Given the description of an element on the screen output the (x, y) to click on. 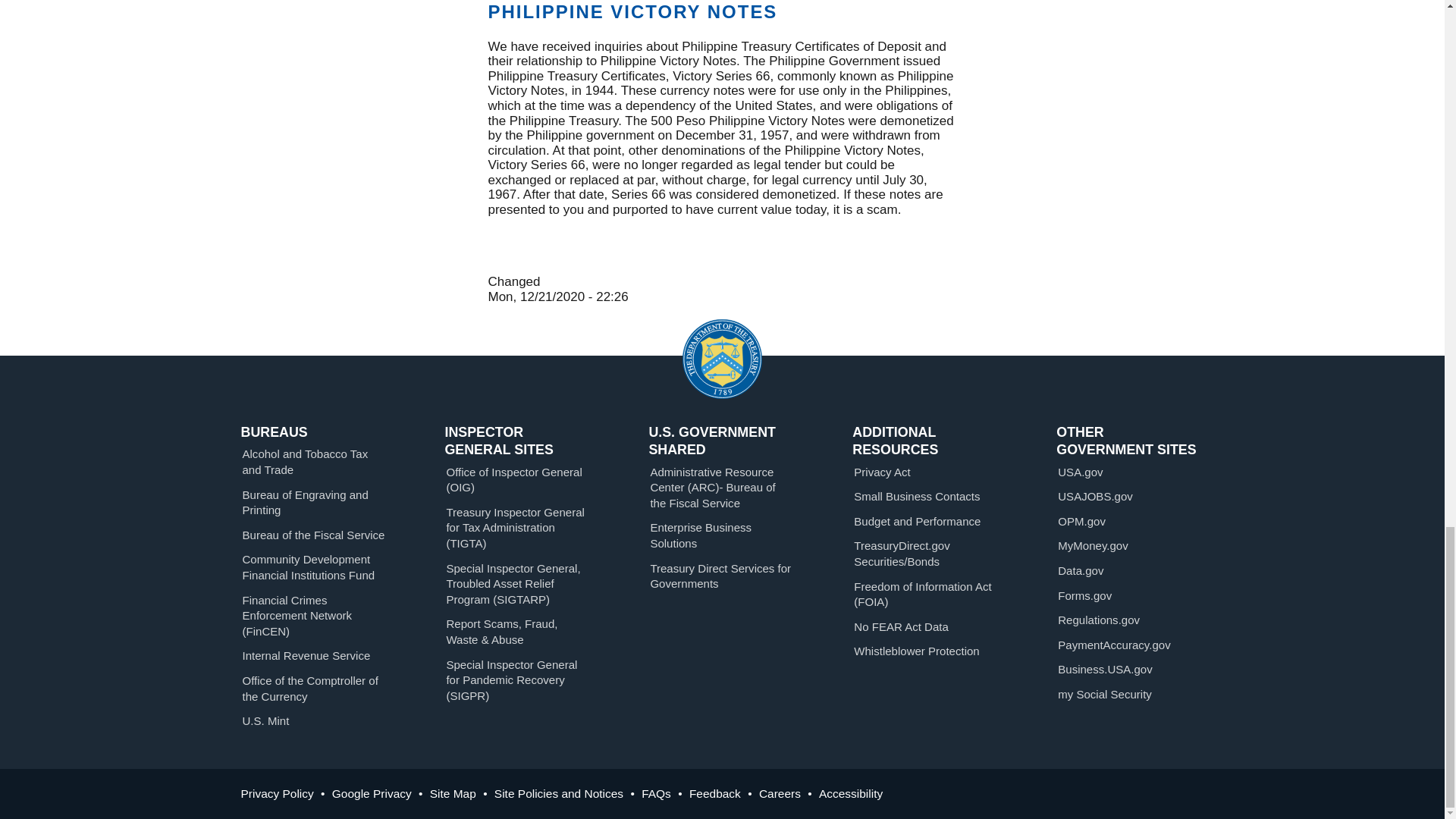
Bureau of the Fiscal Service (314, 534)
Office of the Comptroller of the Currency (310, 688)
Bureau of Engraving and Printing (305, 502)
Alcohol and Tobacco Tax and Trade (305, 461)
Internal Revenue Service (307, 655)
Community Development Financial Institutions Fund (309, 566)
U.S. Mint (266, 720)
